Given the description of an element on the screen output the (x, y) to click on. 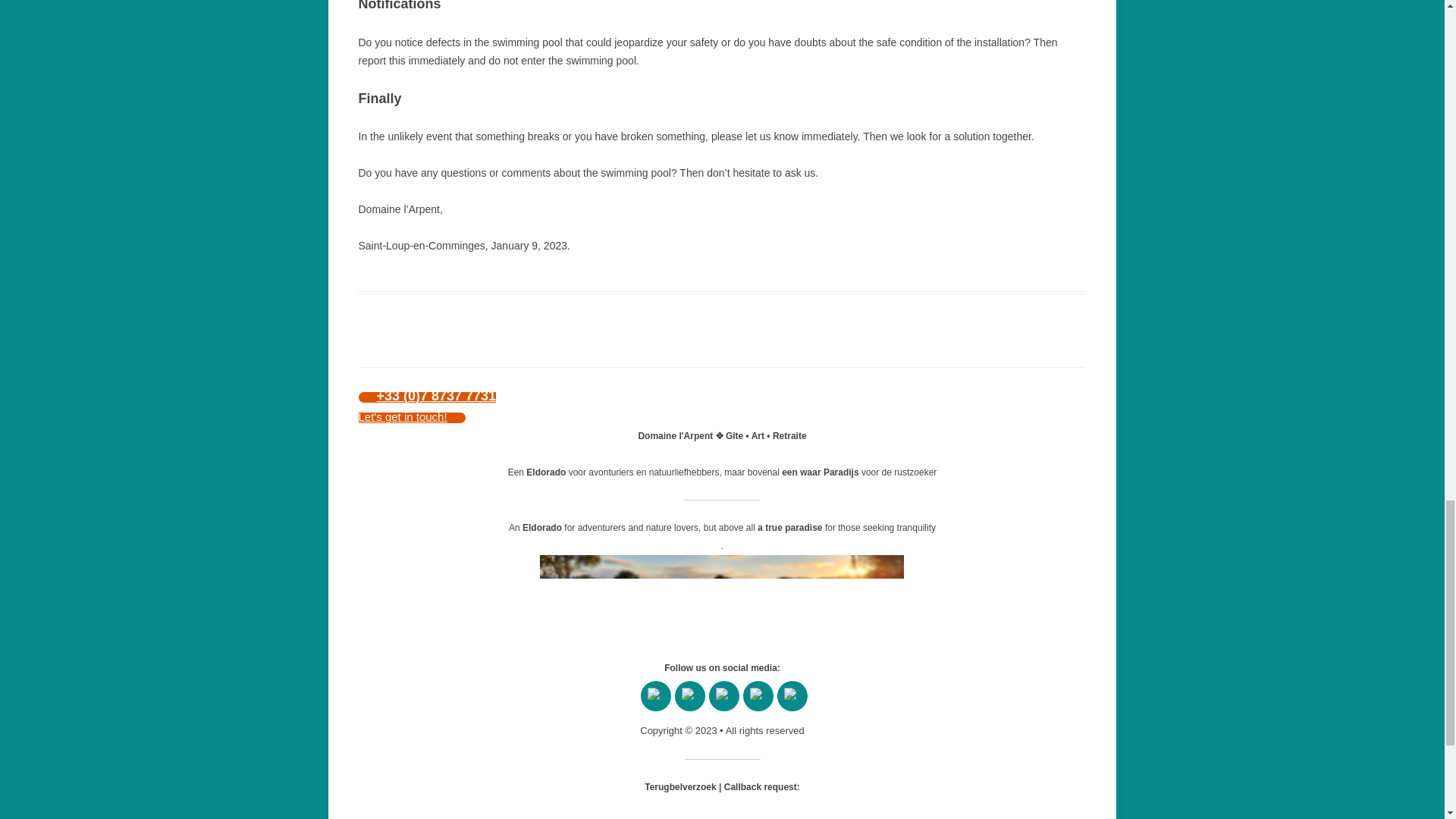
YouTube (689, 695)
Facebook (655, 695)
Instagram (792, 695)
Pinterest (724, 695)
LinkedIn (758, 695)
